Given the description of an element on the screen output the (x, y) to click on. 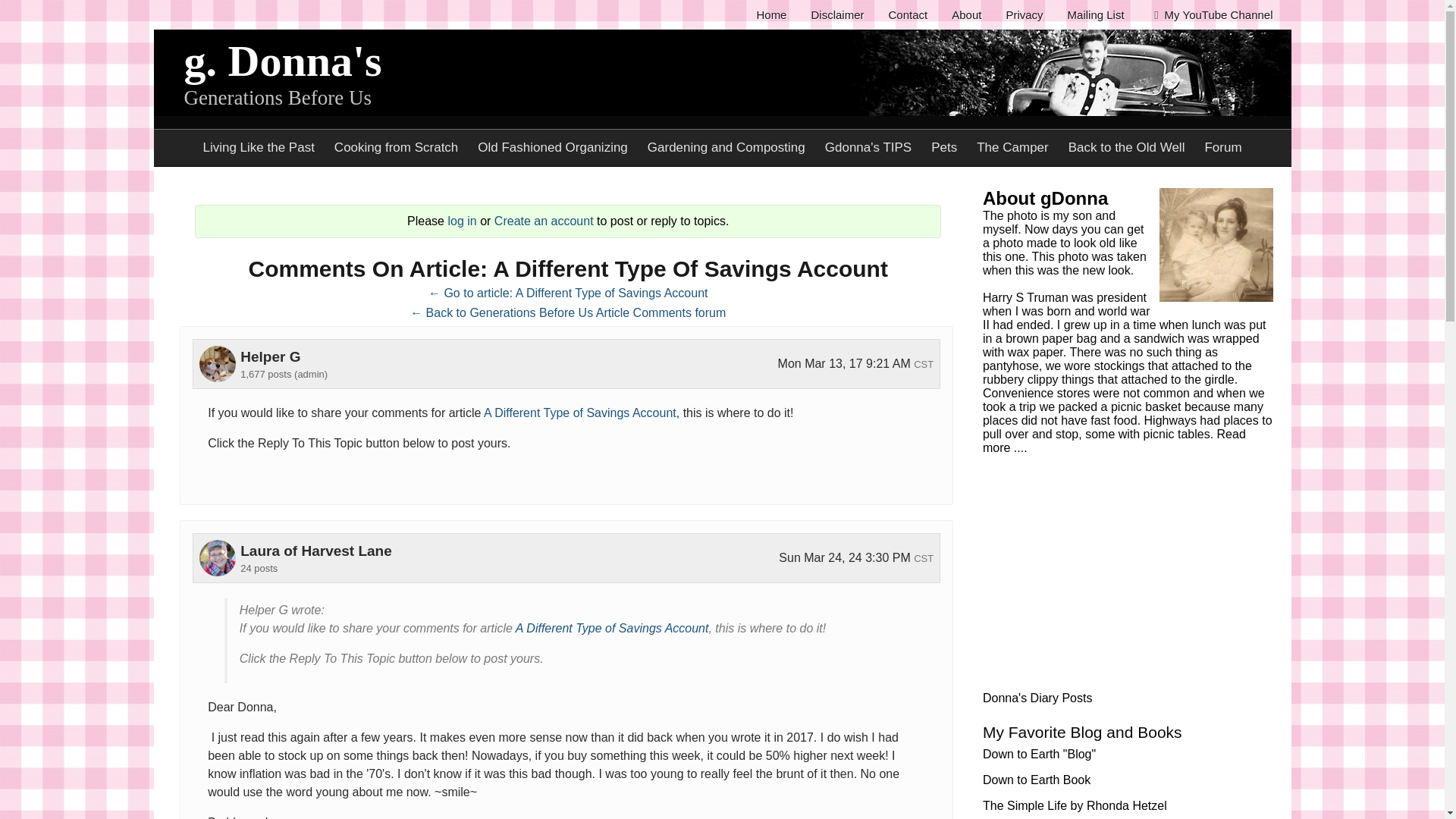
Pets (943, 147)
About gDonna (1045, 198)
Down to Earth "Blog" (1039, 753)
Cooking from Scratch (395, 147)
Gardening and Composting (726, 147)
g. Donna's (282, 60)
Advertisement (1127, 581)
Gdonna's TIPS (868, 147)
Home (770, 14)
Read more .... (1114, 440)
